Given the description of an element on the screen output the (x, y) to click on. 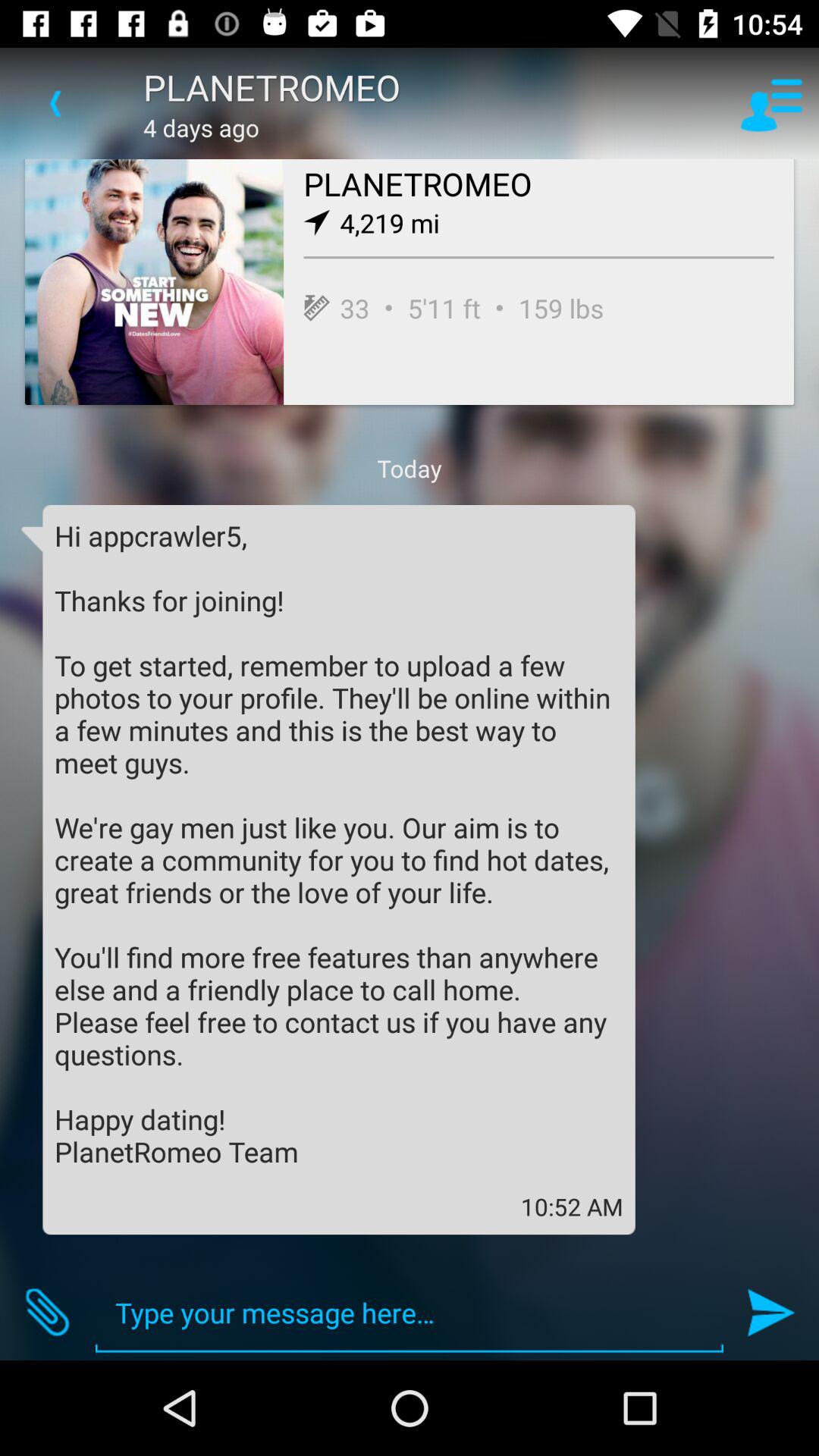
launch the icon below the hi appcrawler5 thanks icon (47, 1312)
